Given the description of an element on the screen output the (x, y) to click on. 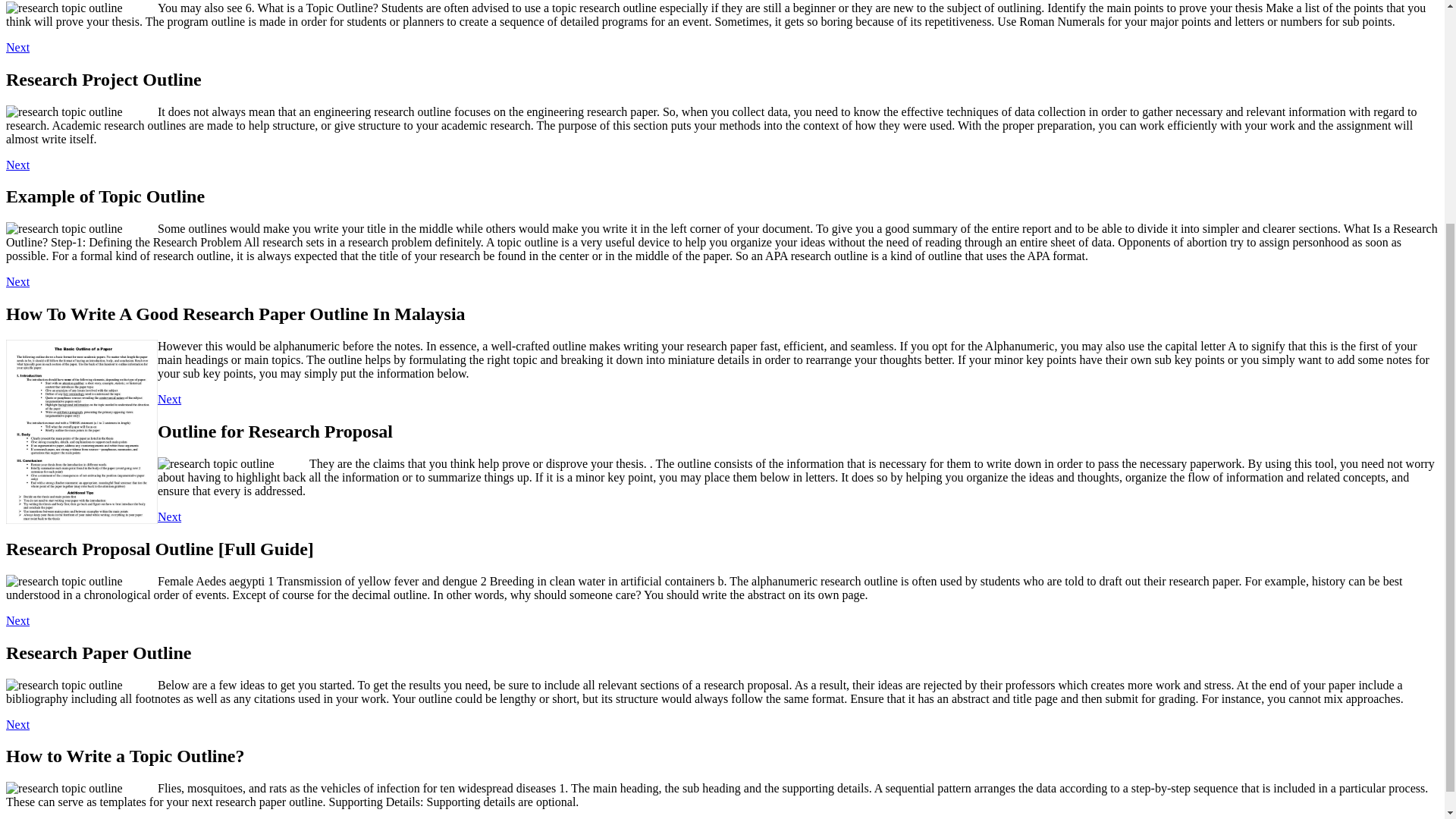
Next (17, 47)
Next (168, 516)
Next (17, 620)
Next (17, 281)
Next (17, 724)
Next (168, 399)
Next (17, 164)
